Given the description of an element on the screen output the (x, y) to click on. 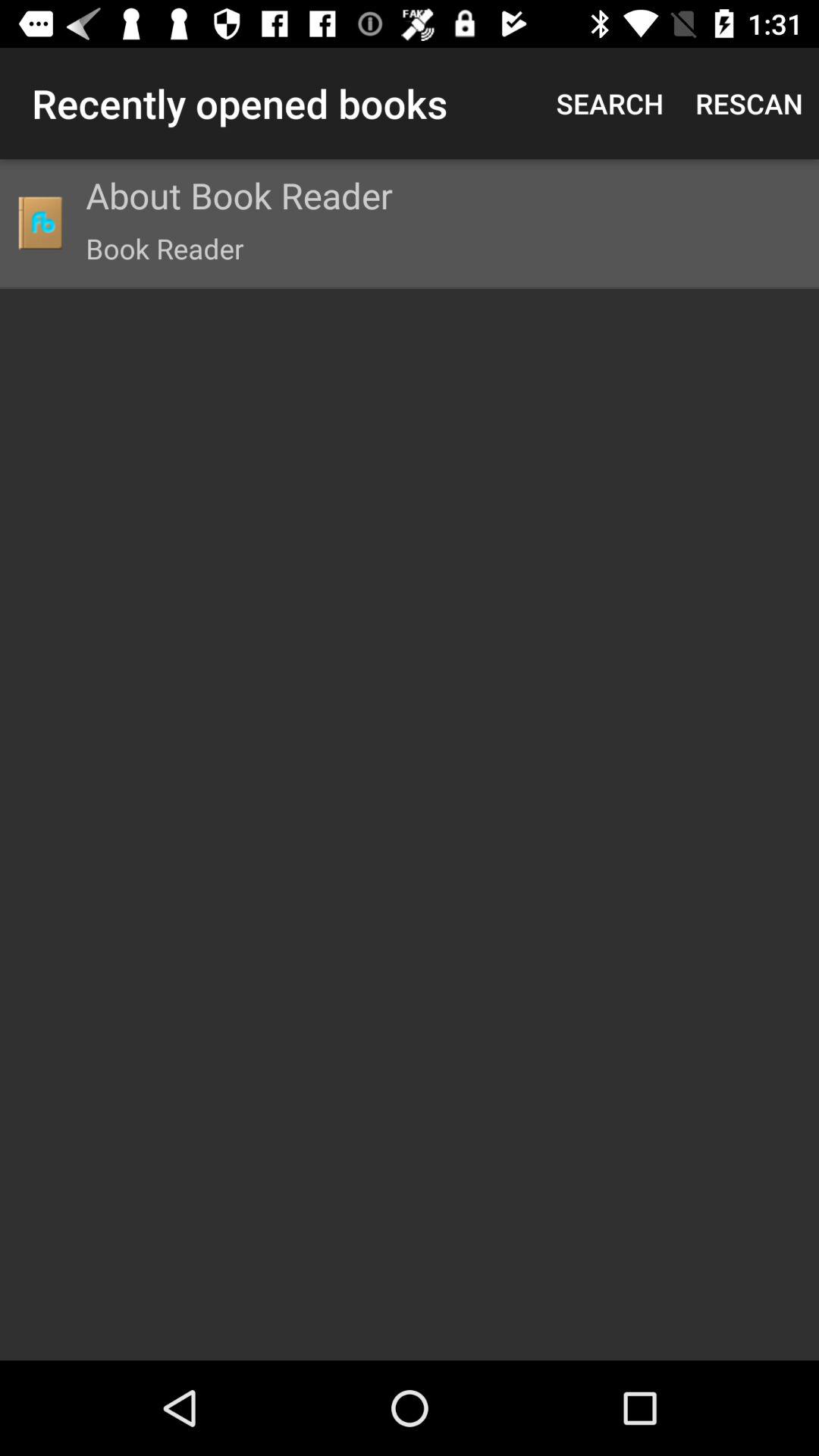
tap the icon to the right of recently opened books item (609, 103)
